Given the description of an element on the screen output the (x, y) to click on. 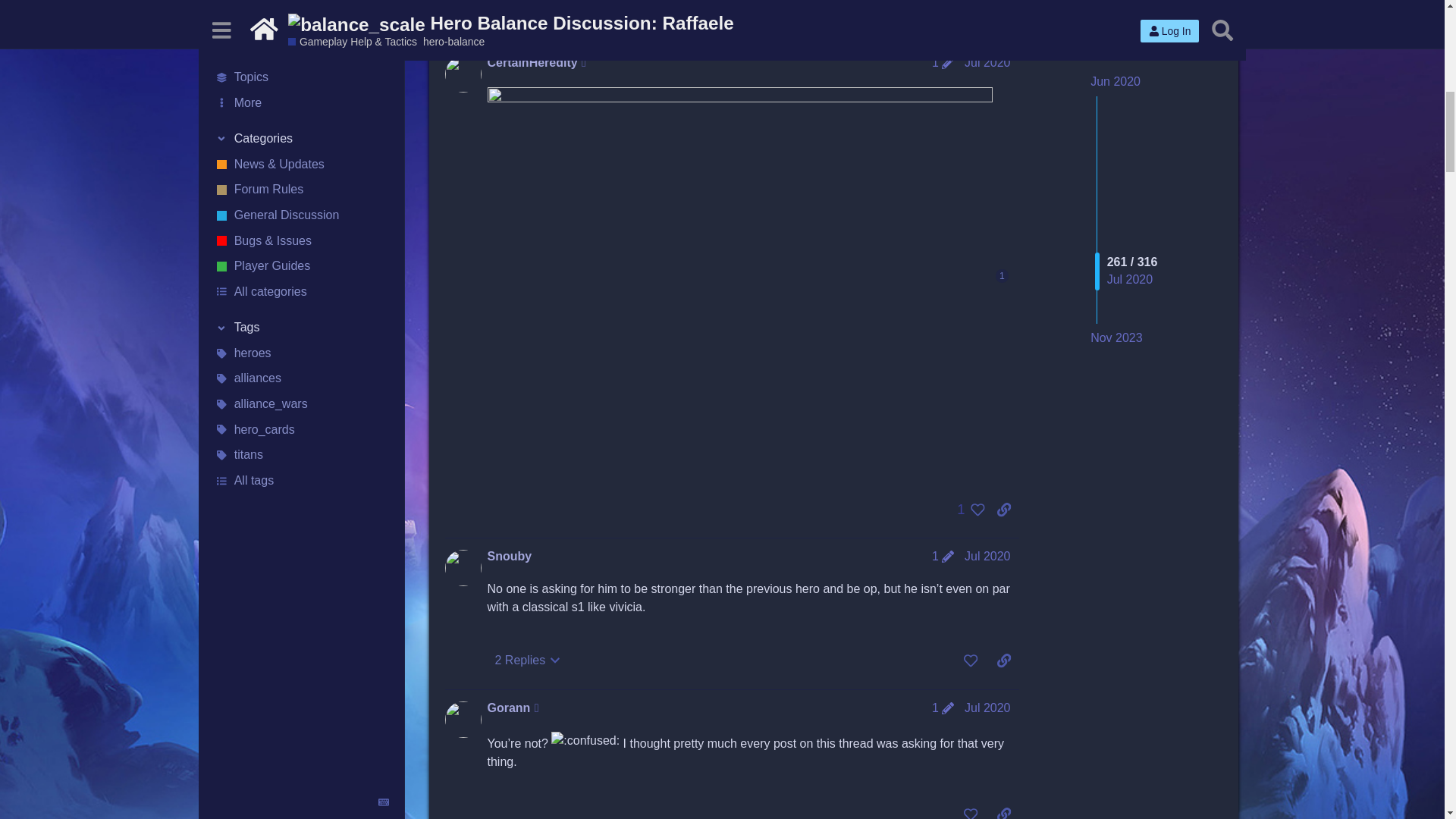
1 Reply (521, 14)
5 (967, 14)
Keyboard Shortcuts (384, 136)
